Given the description of an element on the screen output the (x, y) to click on. 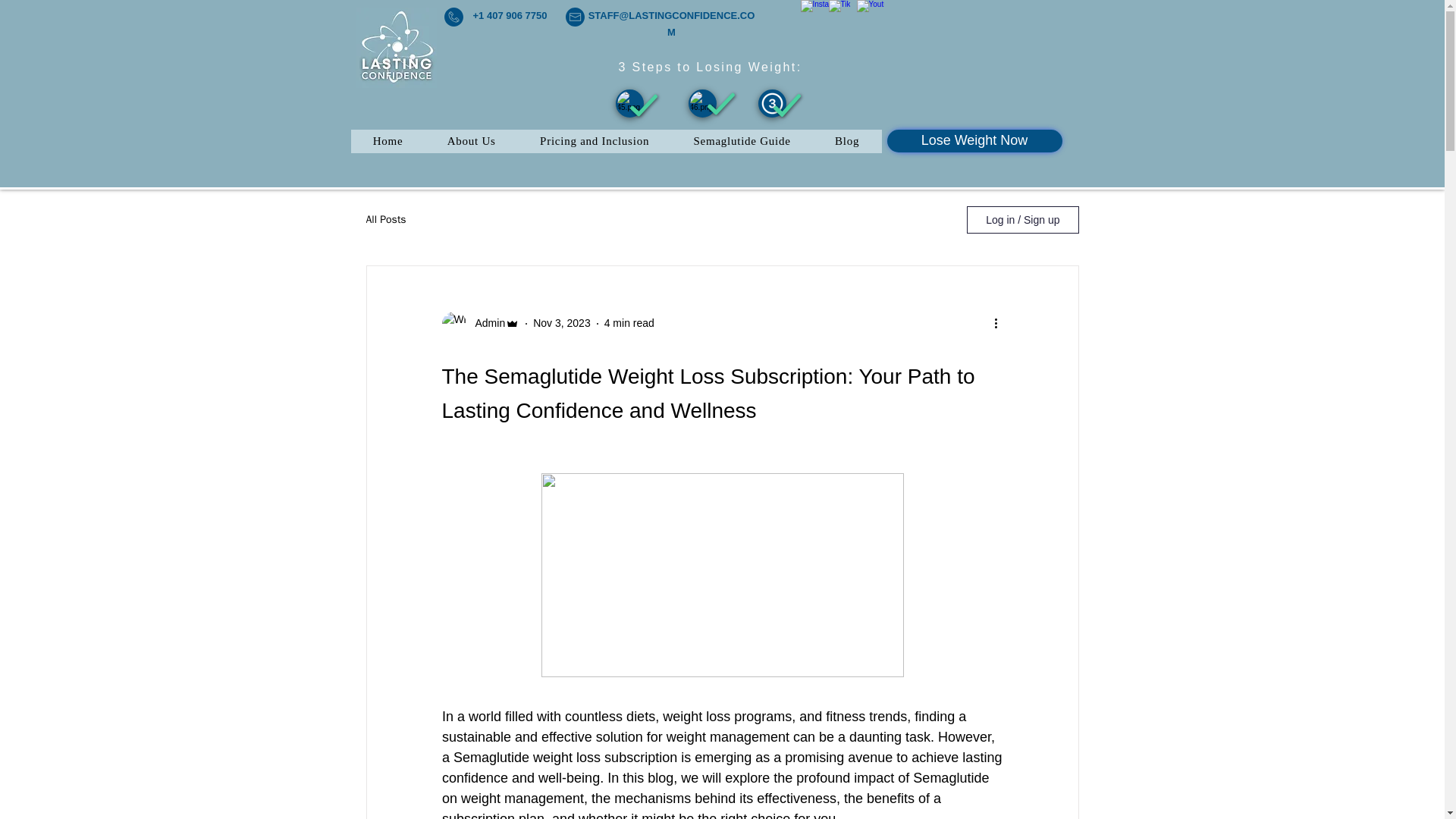
Create an Account (702, 103)
All Posts (385, 219)
Semaglutide Guide (741, 141)
Purchase monthly subscription (772, 103)
Lose Weight Now (974, 140)
About Us (471, 141)
Blog (847, 141)
Admin (485, 323)
Pricing and Inclusion (594, 141)
Nov 3, 2023 (561, 322)
4 min read (628, 322)
Home (387, 141)
Admin Page (974, 140)
